Given the description of an element on the screen output the (x, y) to click on. 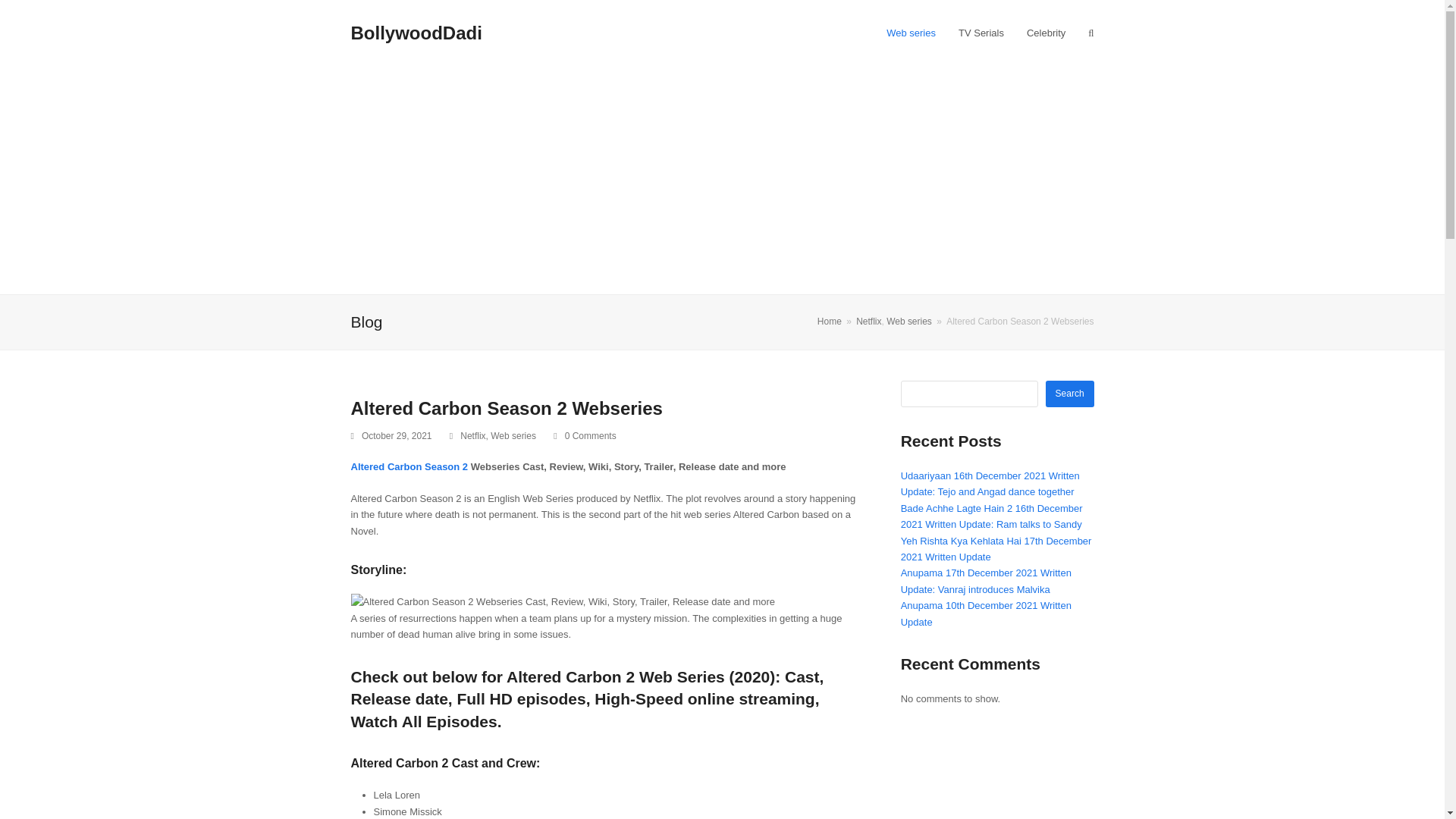
Netflix (472, 435)
Web series (908, 321)
0 Comments (589, 435)
Celebrity (1045, 33)
Web series (512, 435)
Altered Carbon Season 2 (408, 466)
TV Serials (980, 33)
Web series (911, 33)
0 Comments (584, 436)
Home (828, 321)
Search (1069, 393)
BollywoodDadi (415, 32)
